Given the description of an element on the screen output the (x, y) to click on. 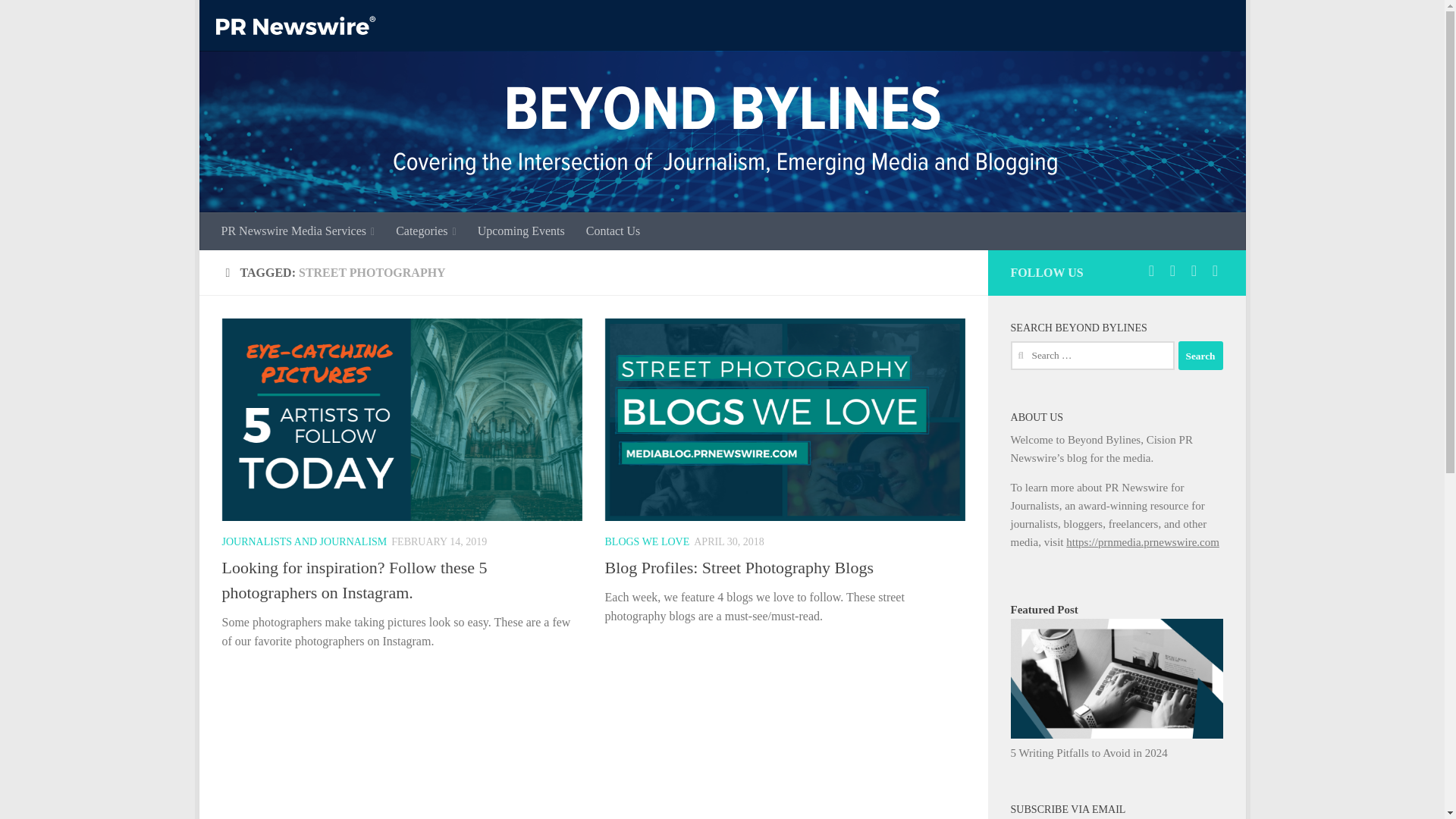
Contact Us (612, 231)
BLOGS WE LOVE (647, 541)
JOURNALISTS AND JOURNALISM (304, 541)
Upcoming Events (521, 231)
Follow us on Facebook (1171, 270)
Search (1200, 355)
Follow us on Twitter (1150, 270)
Skip to content (258, 20)
Follow us on Linkedin (1193, 270)
Blog Profiles: Street Photography Blogs (739, 567)
Follow us on Rss (1215, 270)
Search (1200, 355)
Categories (426, 231)
PR Newswire Media Services (298, 231)
